Given the description of an element on the screen output the (x, y) to click on. 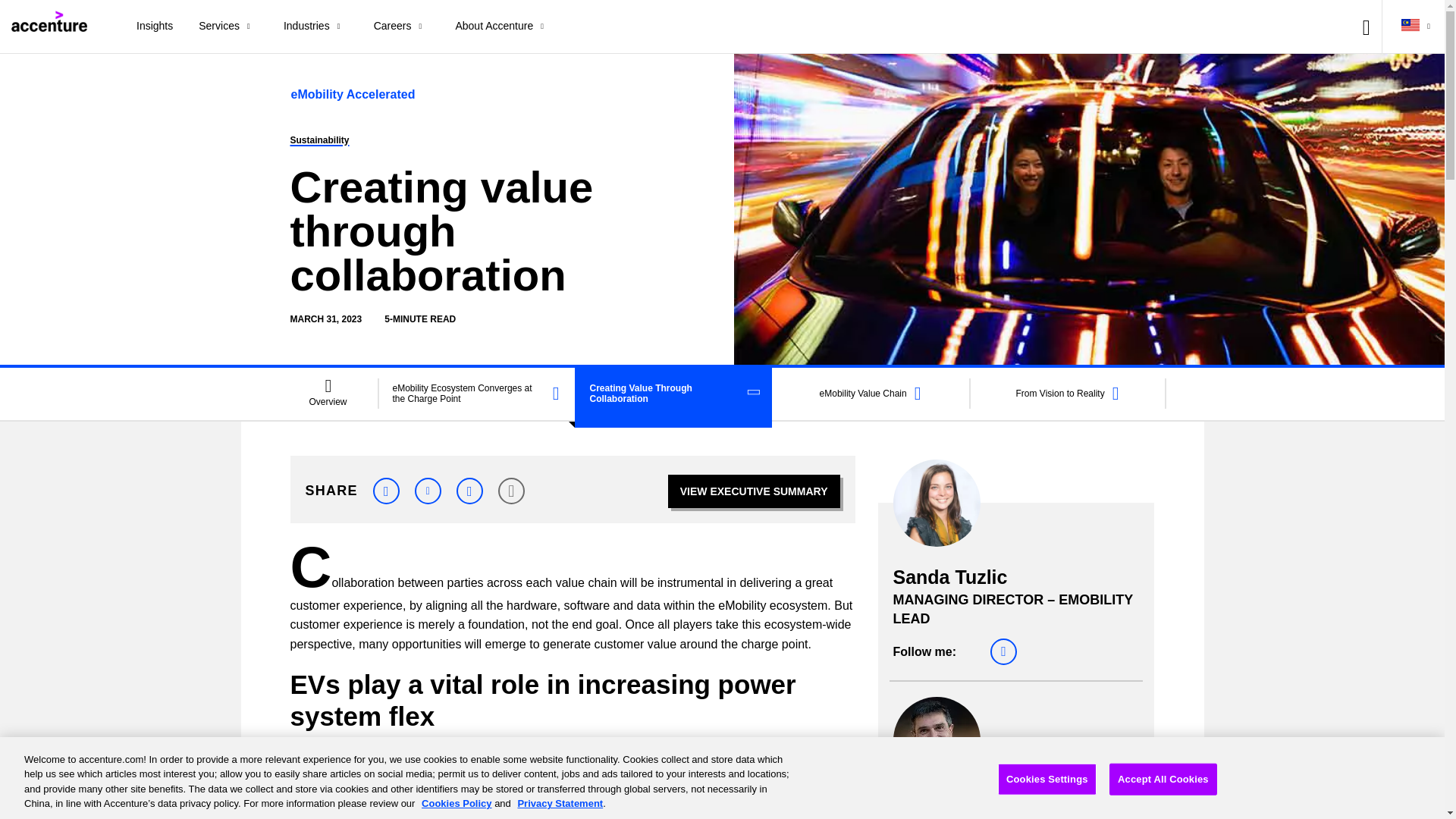
Insights (154, 26)
Industries (315, 26)
Services (228, 26)
